Given the description of an element on the screen output the (x, y) to click on. 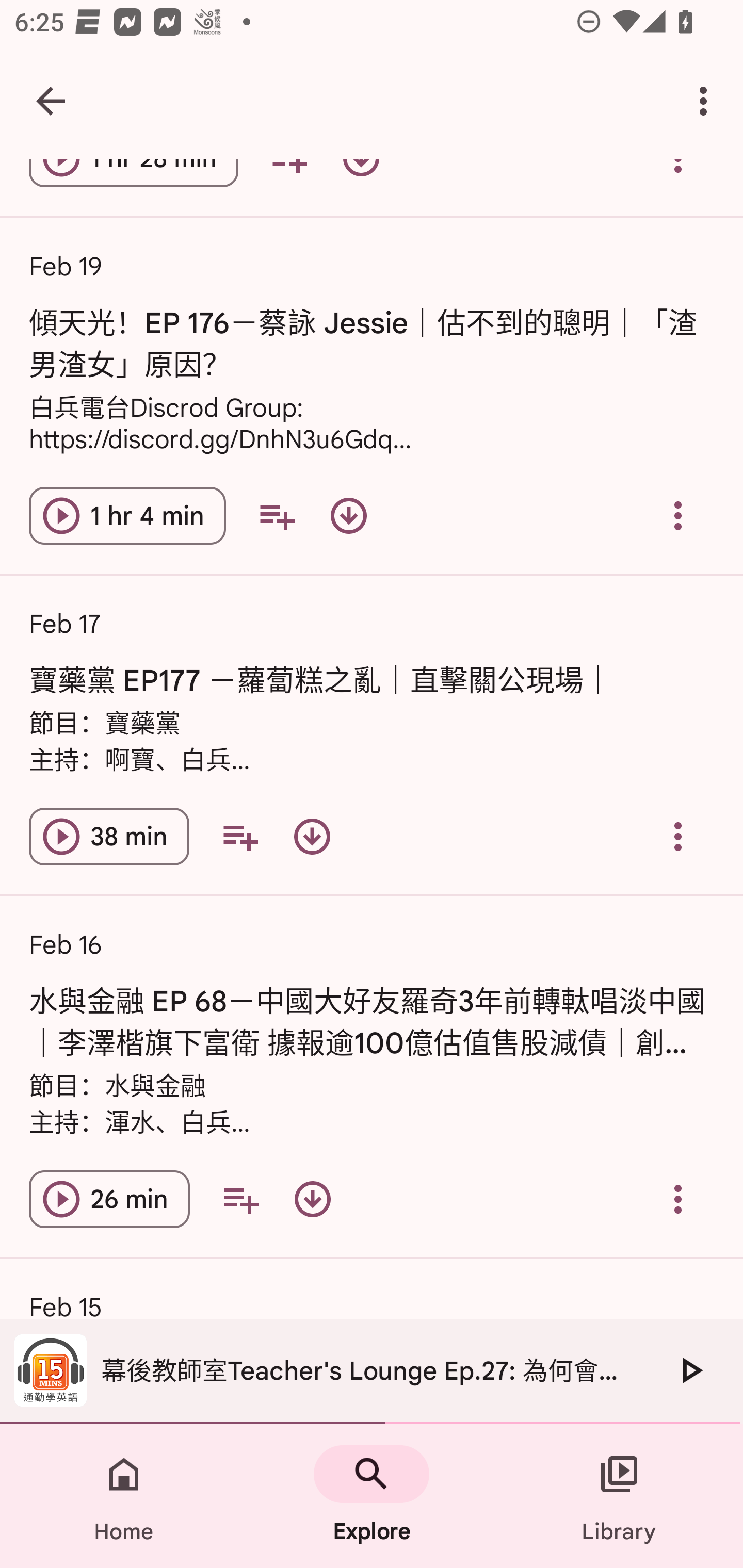
Navigate up (50, 101)
More options (706, 101)
Add to your queue (276, 515)
Download episode (348, 515)
Overflow menu (677, 515)
Play episode 寶藥黨 EP177 －蘿蔔糕之亂｜直擊關公現場｜ 38 min (108, 836)
Add to your queue (239, 836)
Download episode (312, 836)
Overflow menu (677, 836)
Add to your queue (240, 1198)
Download episode (312, 1198)
Overflow menu (677, 1198)
Play (690, 1370)
Home (123, 1495)
Library (619, 1495)
